Given the description of an element on the screen output the (x, y) to click on. 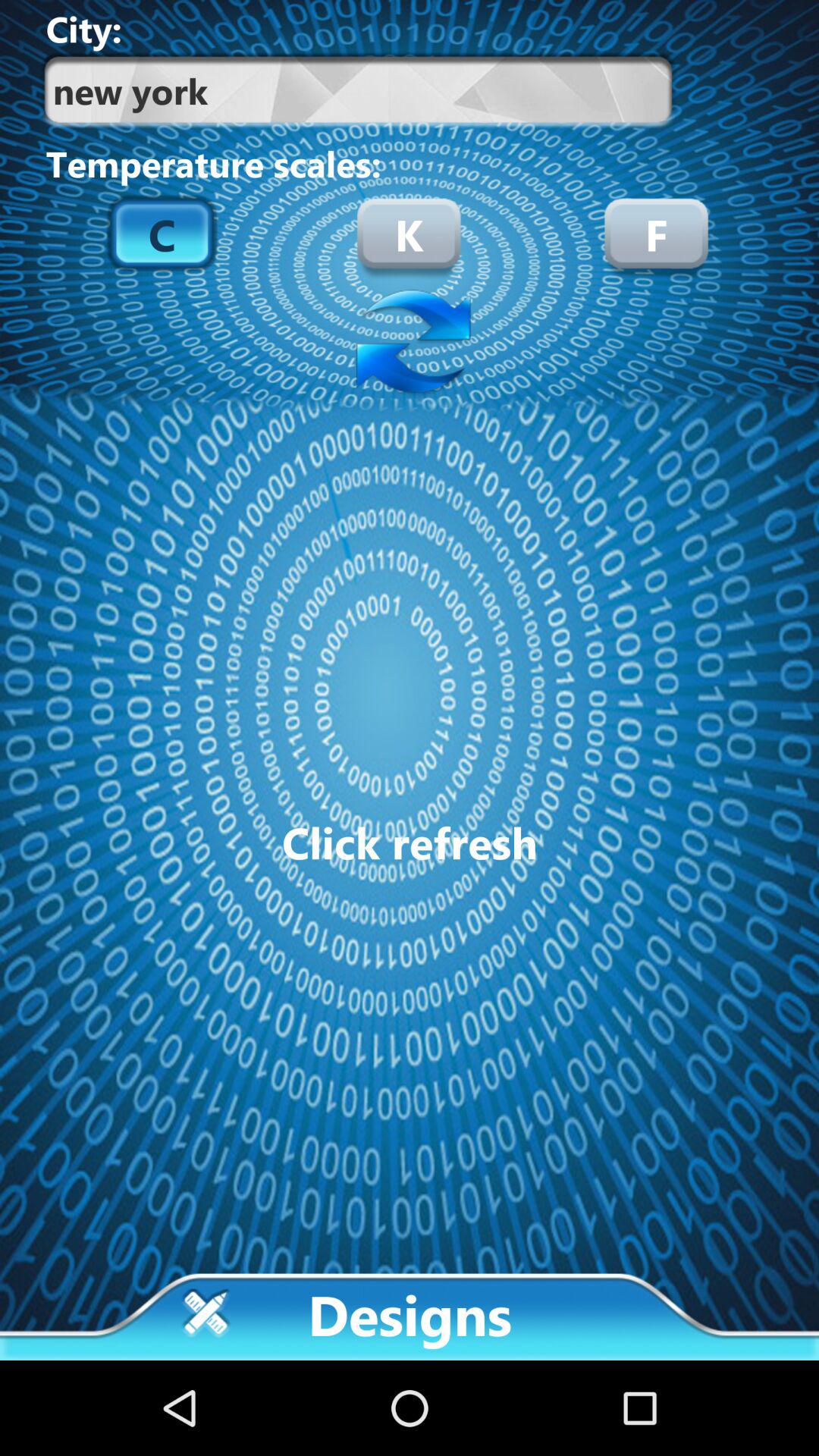
refresh (409, 343)
